Given the description of an element on the screen output the (x, y) to click on. 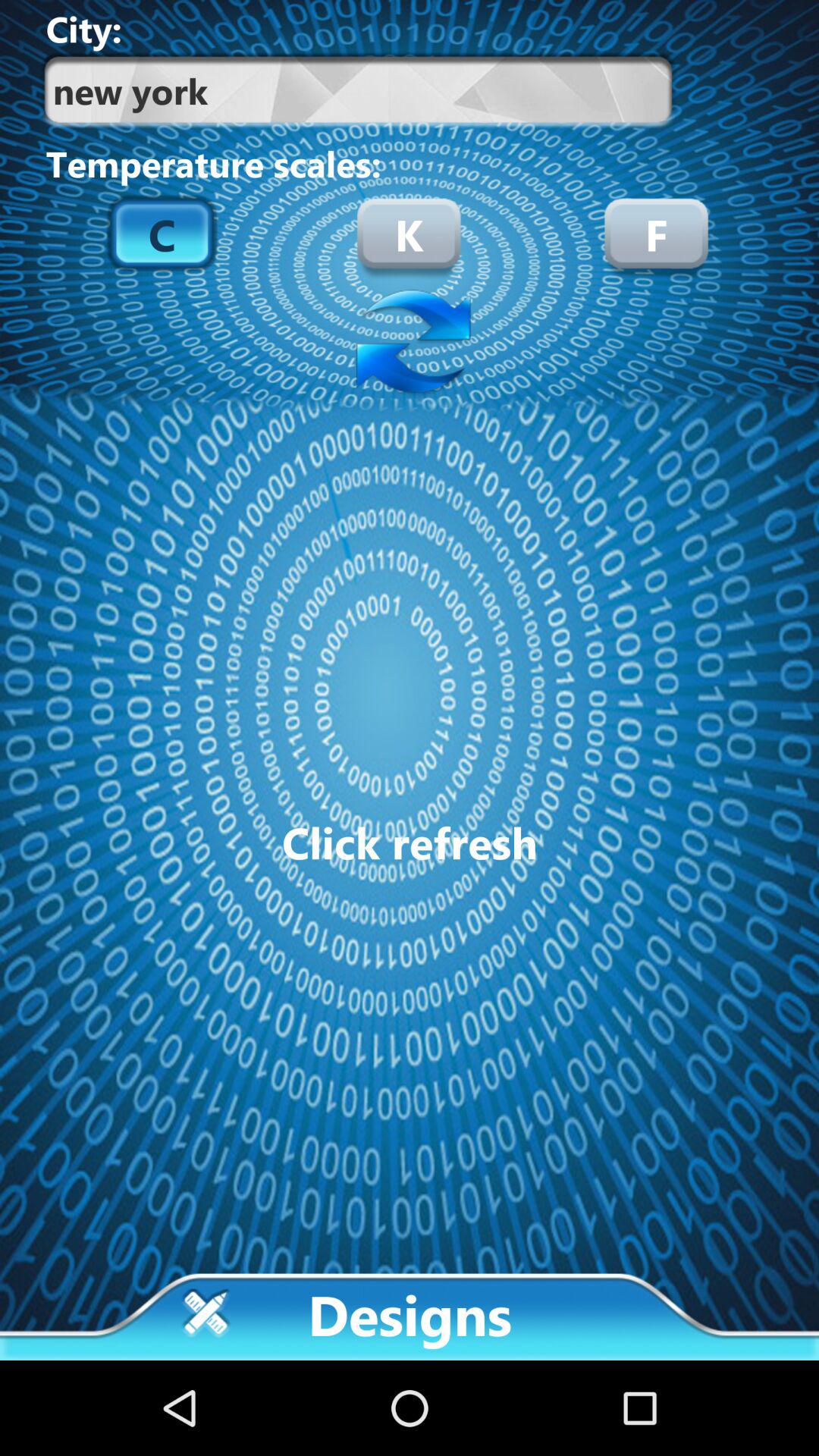
refresh (409, 343)
